Given the description of an element on the screen output the (x, y) to click on. 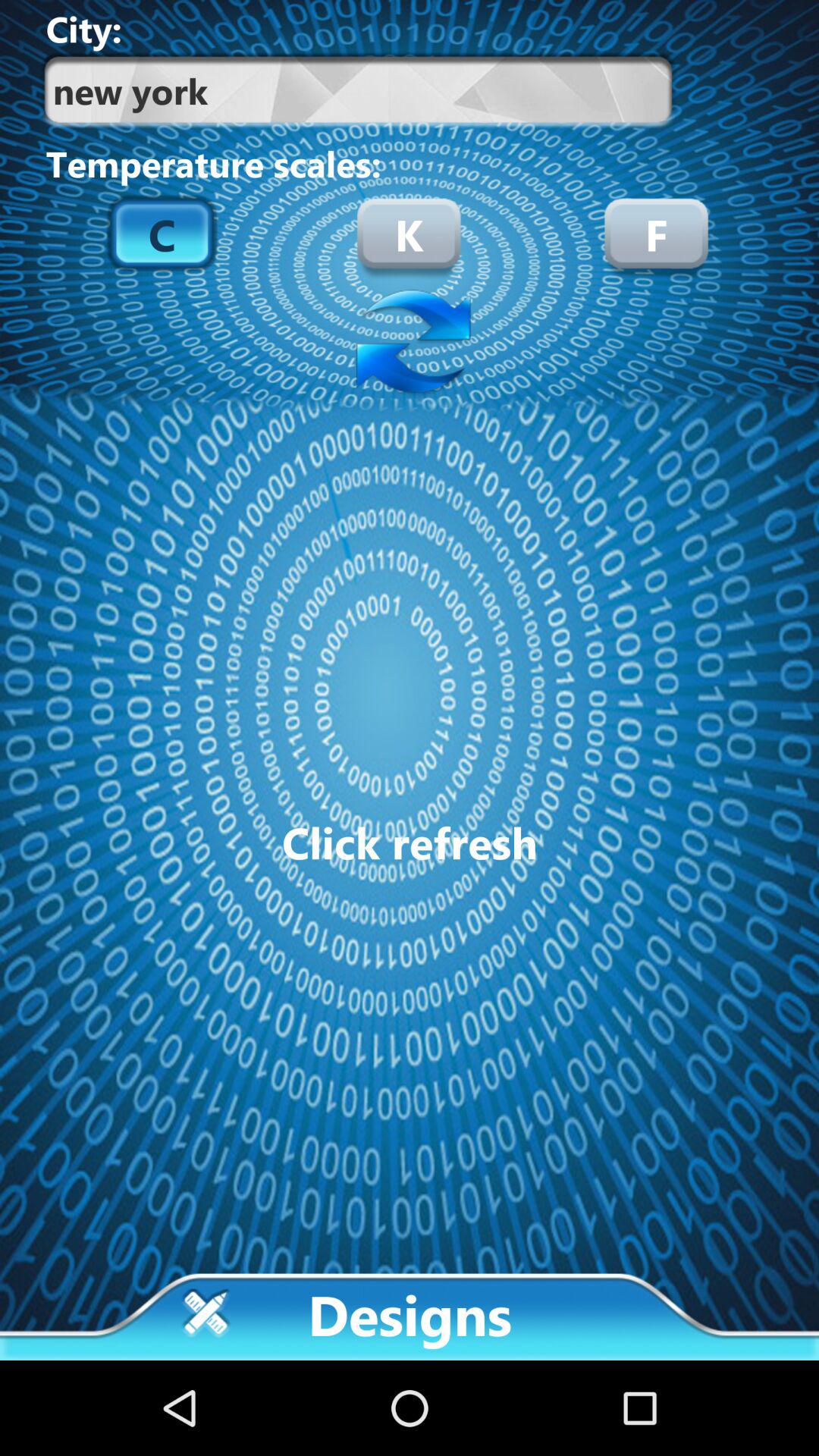
refresh (409, 343)
